Given the description of an element on the screen output the (x, y) to click on. 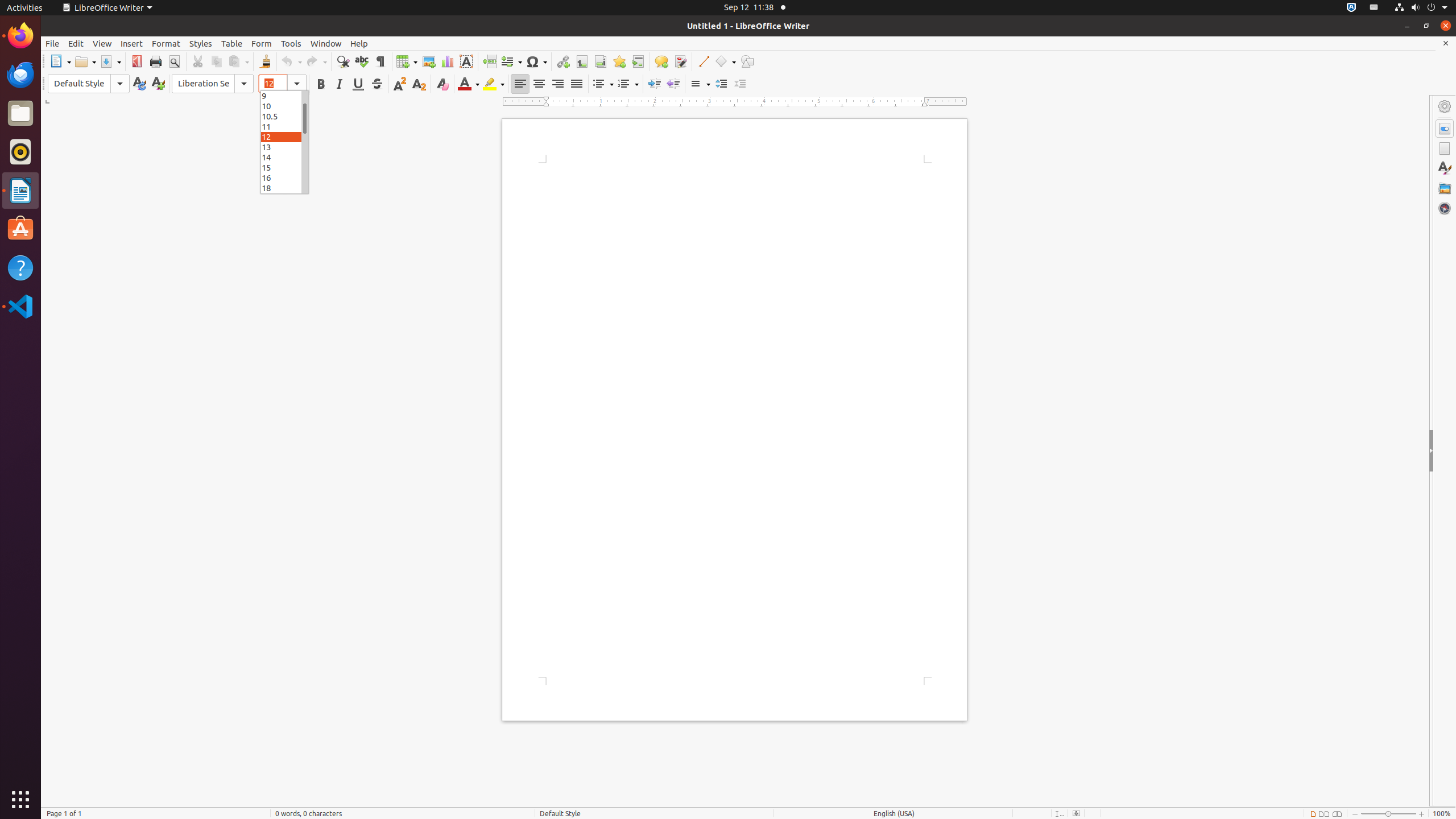
9 Element type: list-item (284, 95)
Clear Element type: push-button (441, 83)
Basic Shapes Element type: push-button (724, 61)
Text Box Element type: push-button (465, 61)
Undo Element type: push-button (290, 61)
